Given the description of an element on the screen output the (x, y) to click on. 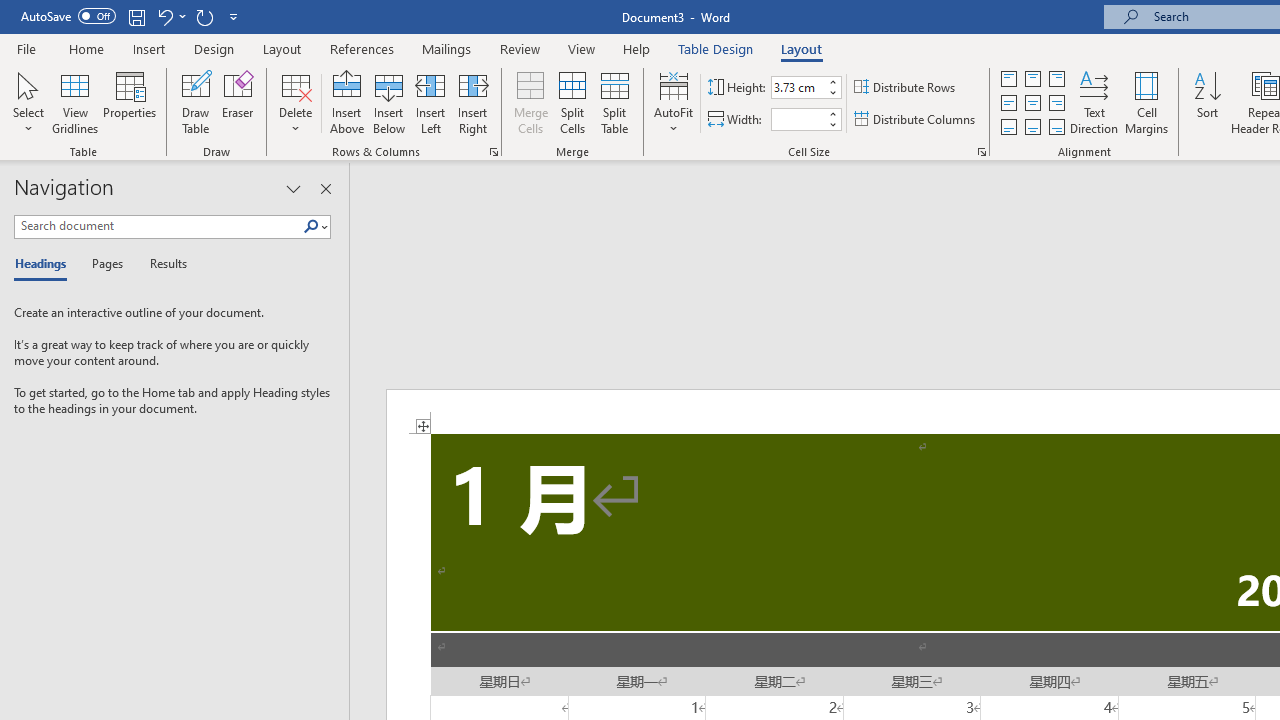
Eraser (237, 102)
Insert Right (472, 102)
Align Bottom Justified (1009, 126)
View Gridlines (75, 102)
Table Row Height (797, 87)
AutoFit (673, 102)
